Given the description of an element on the screen output the (x, y) to click on. 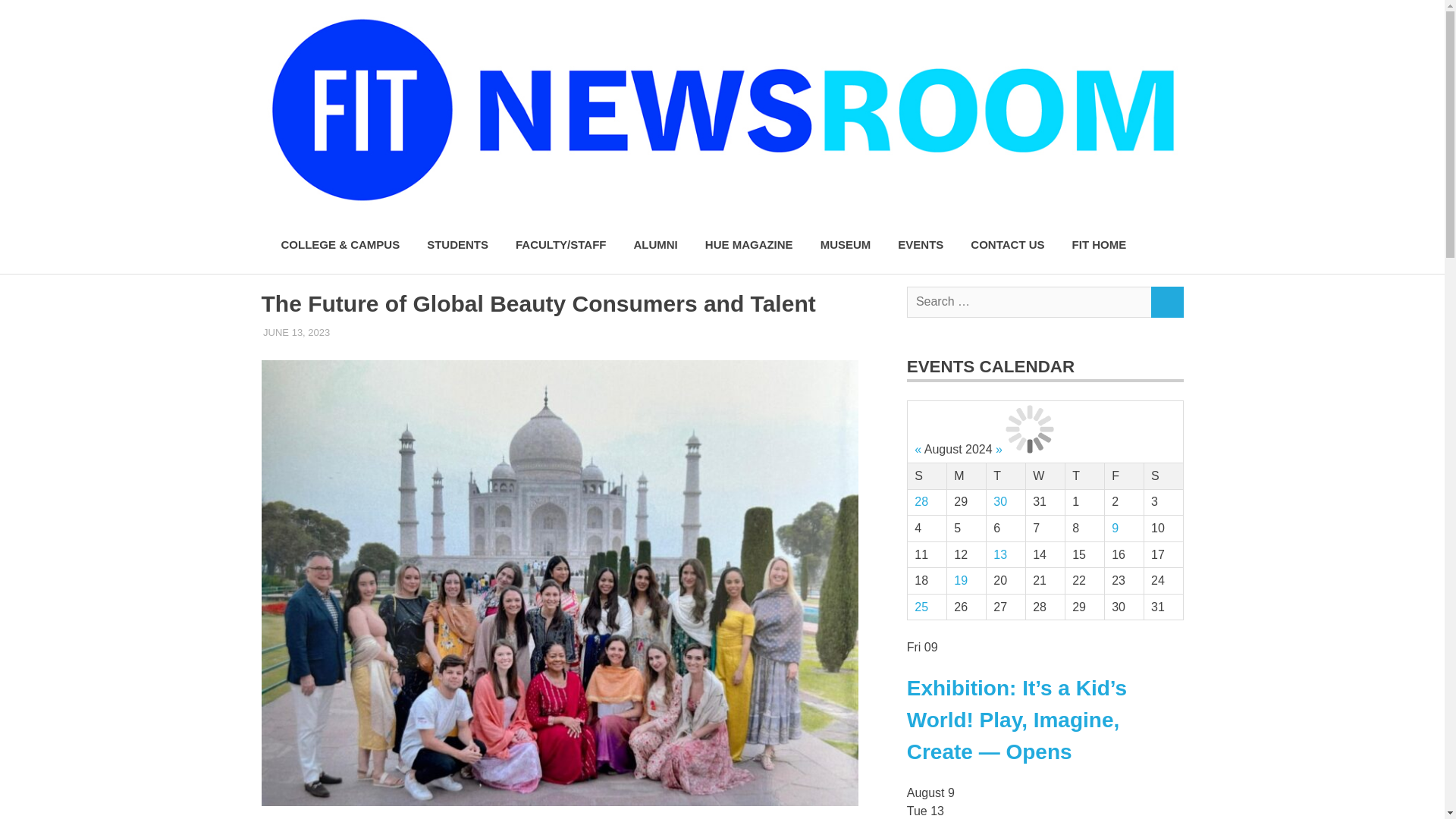
MUSEUM (845, 244)
SEARCH (1166, 301)
30 (999, 501)
FIT HOME (1099, 244)
Search for: (1029, 301)
SCHOOL OF GRADUATE STUDIES (598, 332)
STUDENTS (457, 244)
ALEXANDRA MANN (375, 332)
View all posts by Alexandra Mann (375, 332)
13 (999, 553)
